Given the description of an element on the screen output the (x, y) to click on. 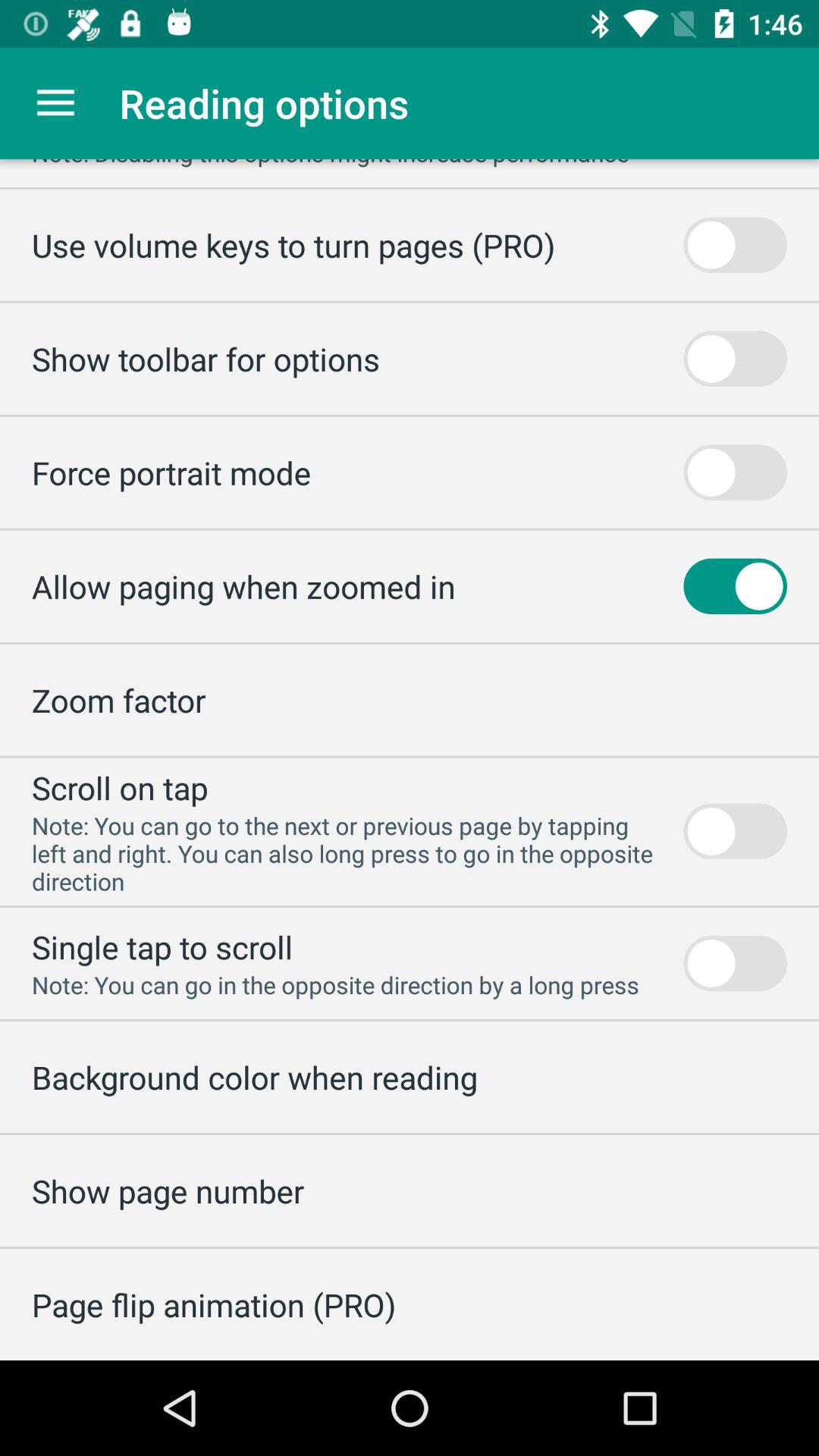
press the app next to reading options icon (55, 103)
